Given the description of an element on the screen output the (x, y) to click on. 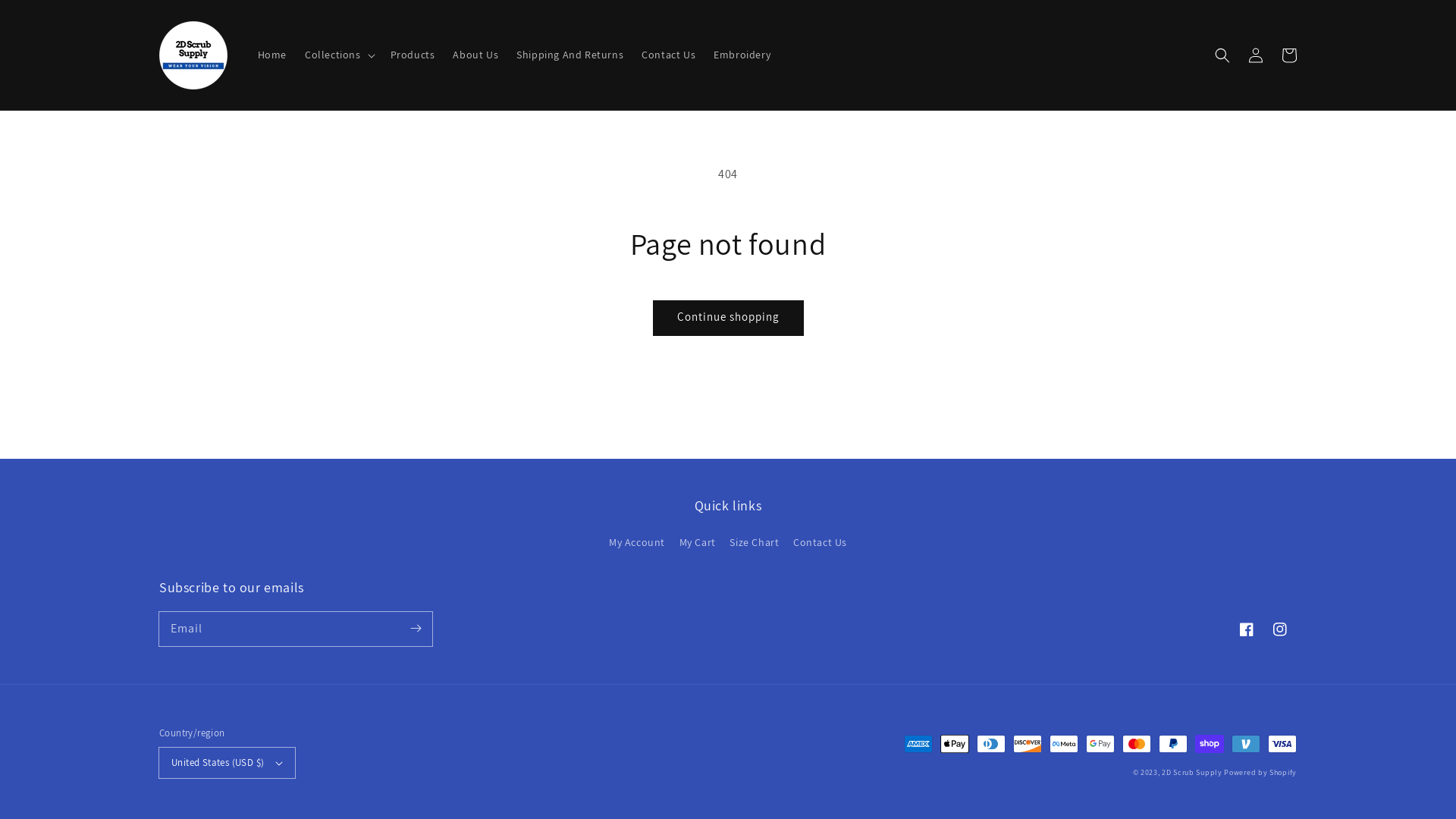
My Cart Element type: text (697, 542)
Log in Element type: text (1255, 54)
Embroidery Element type: text (741, 54)
Home Element type: text (271, 54)
About Us Element type: text (475, 54)
Continue shopping Element type: text (728, 318)
Shipping And Returns Element type: text (569, 54)
Facebook Element type: text (1246, 629)
Contact Us Element type: text (820, 542)
Size Chart Element type: text (753, 542)
United States (USD $) Element type: text (226, 762)
My Account Element type: text (636, 544)
Products Element type: text (412, 54)
Instagram Element type: text (1279, 629)
Contact Us Element type: text (668, 54)
2D Scrub Supply Element type: text (1191, 772)
Powered by Shopify Element type: text (1259, 772)
Cart Element type: text (1288, 54)
